Given the description of an element on the screen output the (x, y) to click on. 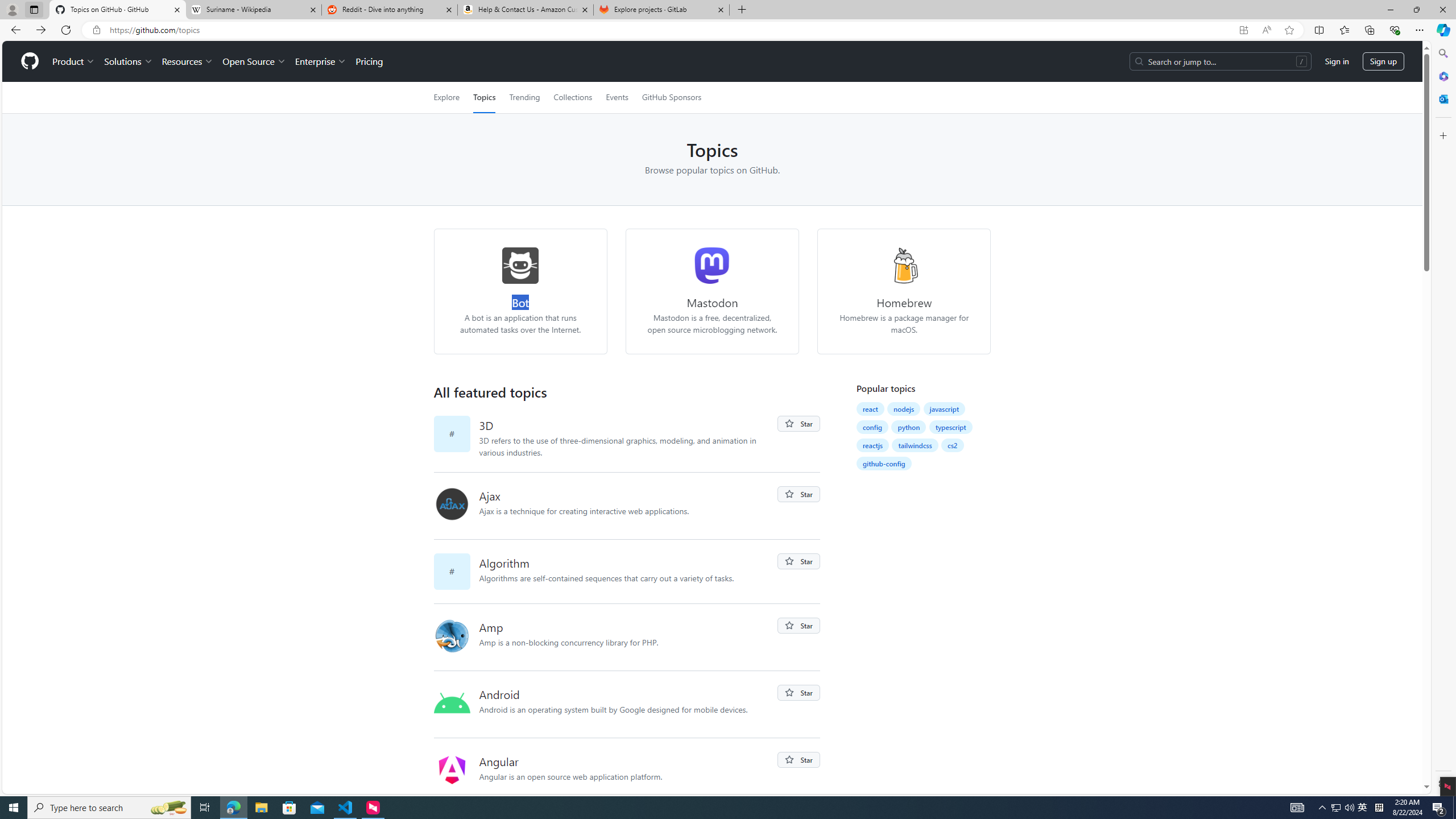
python (909, 426)
react (870, 408)
angular (451, 769)
angular (456, 771)
config (872, 426)
You must be signed in to star a repository (798, 759)
cs2 (952, 445)
GitHub Sponsors (671, 97)
